Given the description of an element on the screen output the (x, y) to click on. 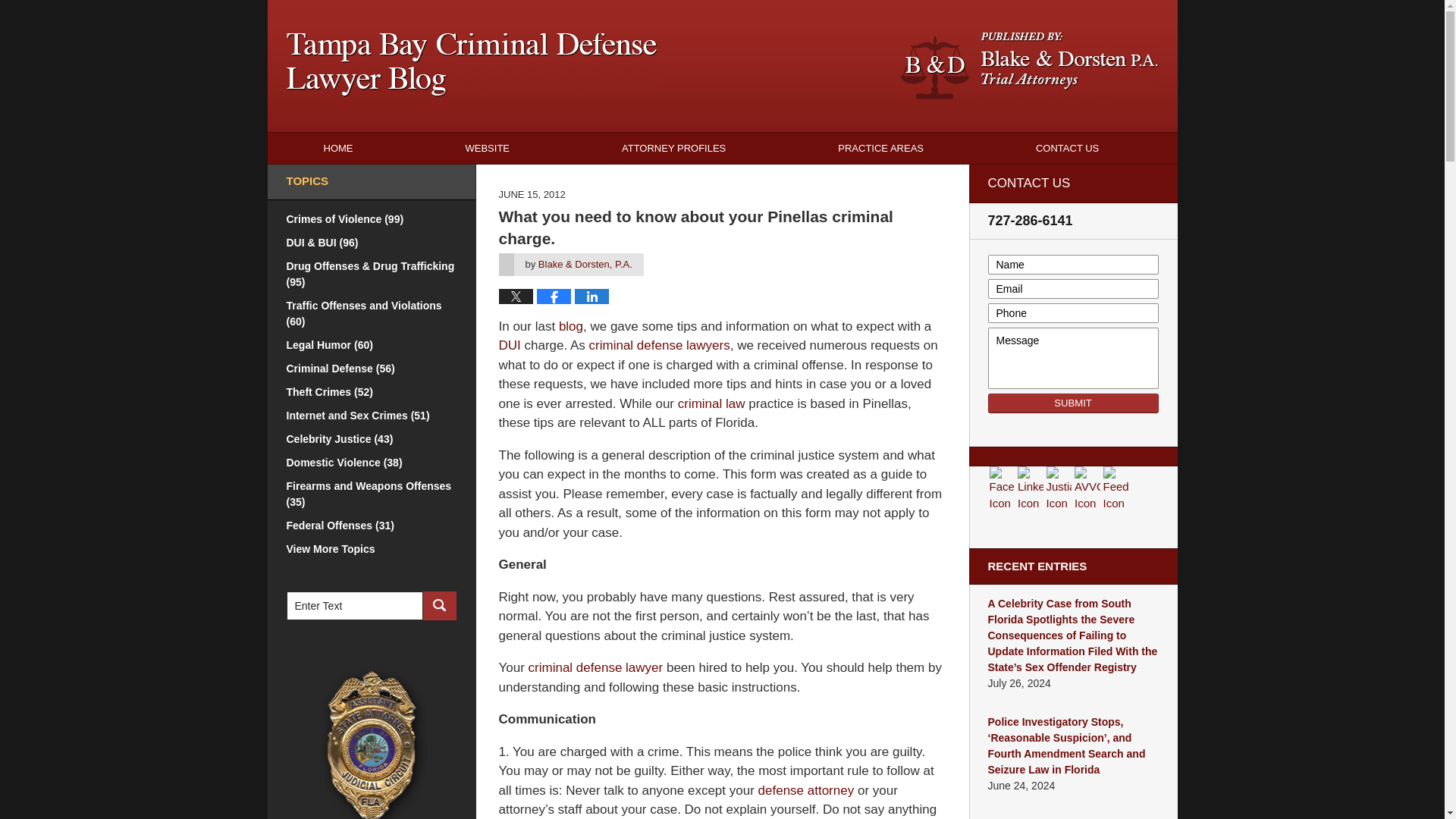
HOME (337, 147)
CONTACT US (1066, 147)
defense attorney (806, 789)
Please enter a valid phone number. (1072, 312)
criminal defense lawyer (595, 667)
DUI (510, 345)
ATTORNEY PROFILES (673, 147)
criminal law (711, 403)
PRACTICE AREAS (880, 147)
WEBSITE (487, 147)
